Given the description of an element on the screen output the (x, y) to click on. 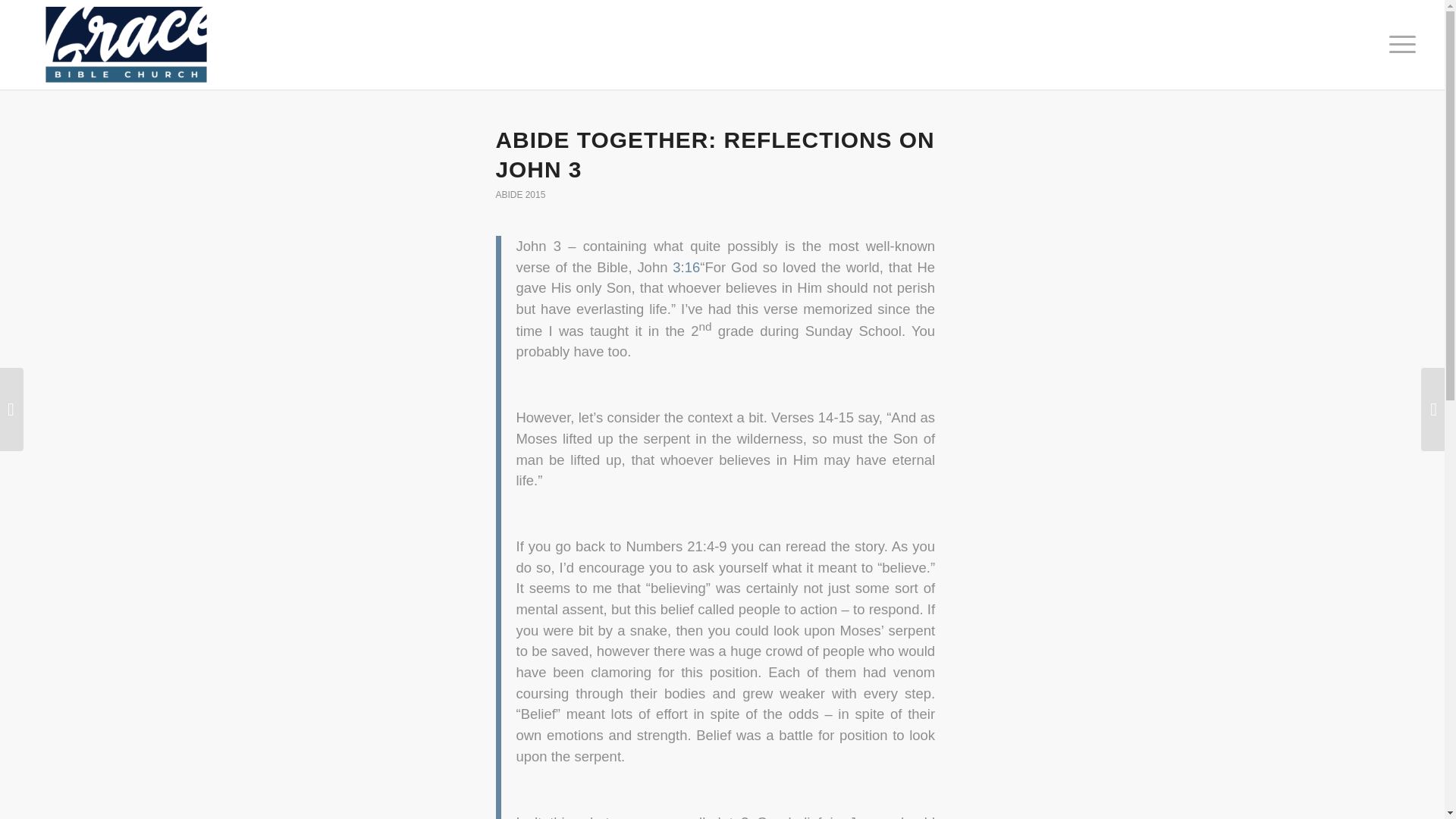
Permanent Link: Abide Together: Reflections on John 3 (715, 154)
3:16 (686, 267)
ABIDE 2015 (521, 194)
ABIDE TOGETHER: REFLECTIONS ON JOHN 3 (715, 154)
